Given the description of an element on the screen output the (x, y) to click on. 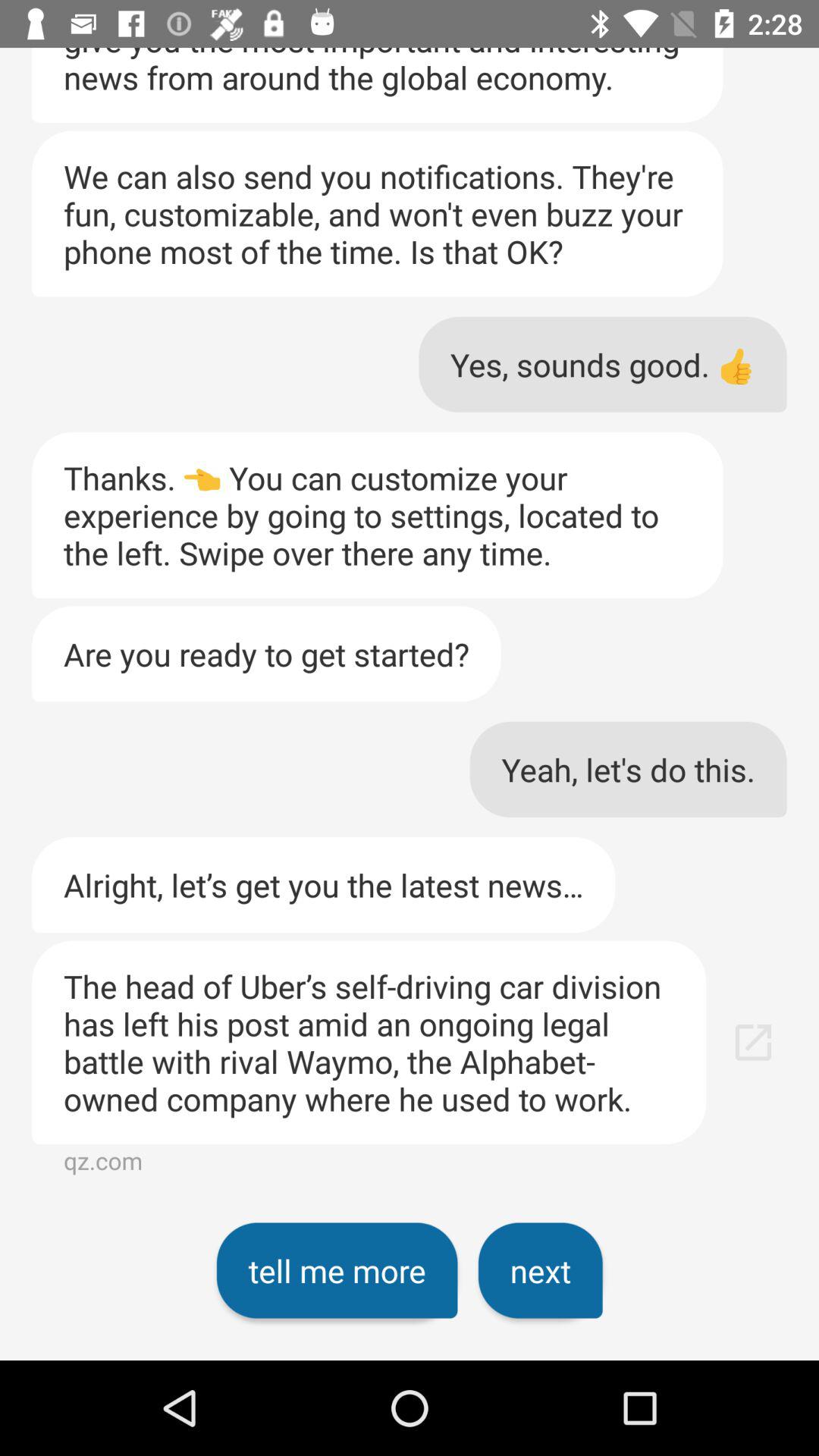
flip until tell me more (336, 1270)
